Given the description of an element on the screen output the (x, y) to click on. 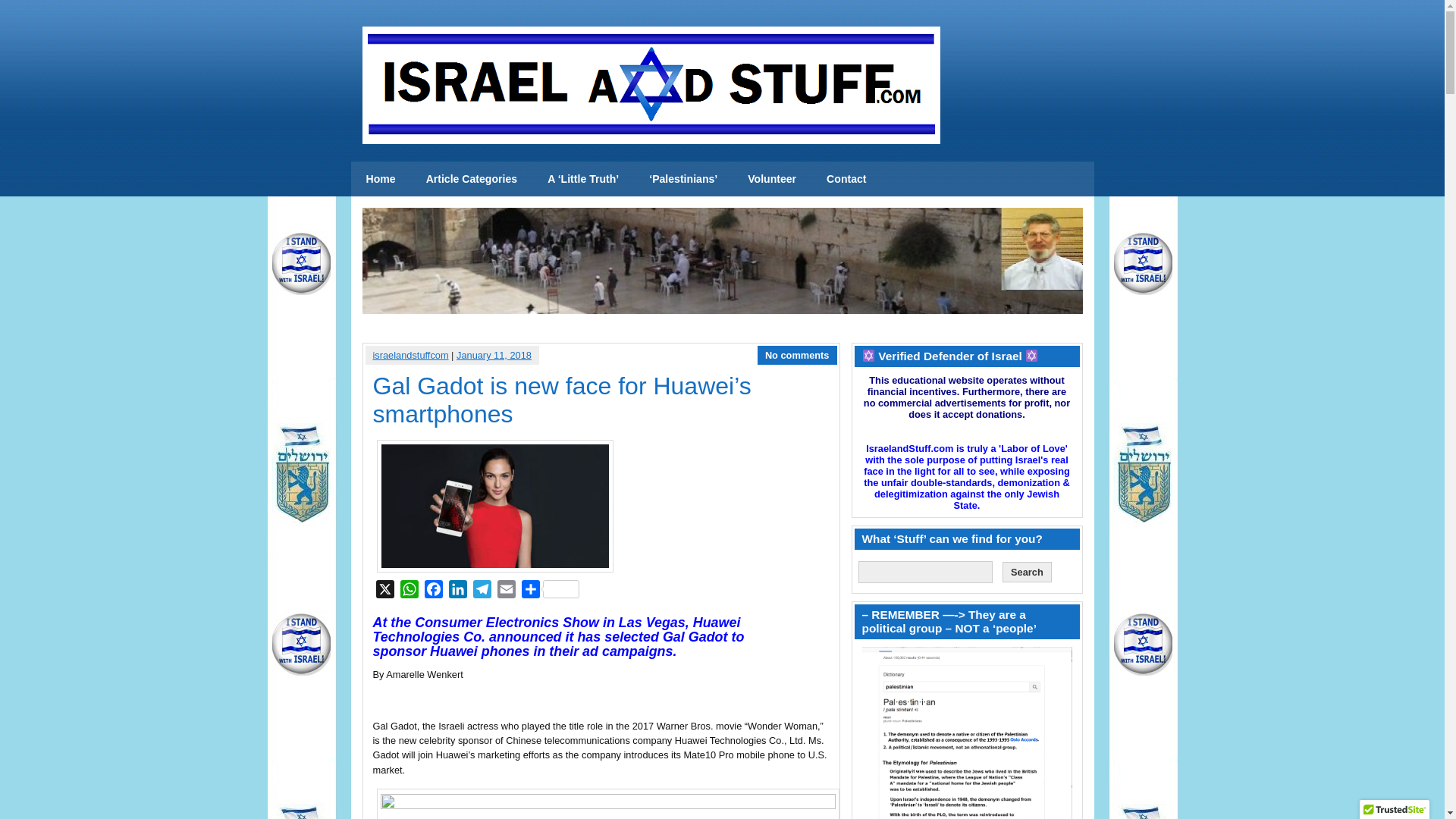
Facebook (433, 591)
Search (1027, 571)
X (384, 591)
Article Categories (471, 178)
No comments (797, 355)
Home (380, 178)
Telegram (482, 591)
news (380, 178)
January 11, 2018 (494, 355)
X (384, 591)
Facebook (433, 591)
Contact (845, 178)
Volunteer (771, 178)
Email (506, 591)
israelandstuffcom (410, 355)
